Given the description of an element on the screen output the (x, y) to click on. 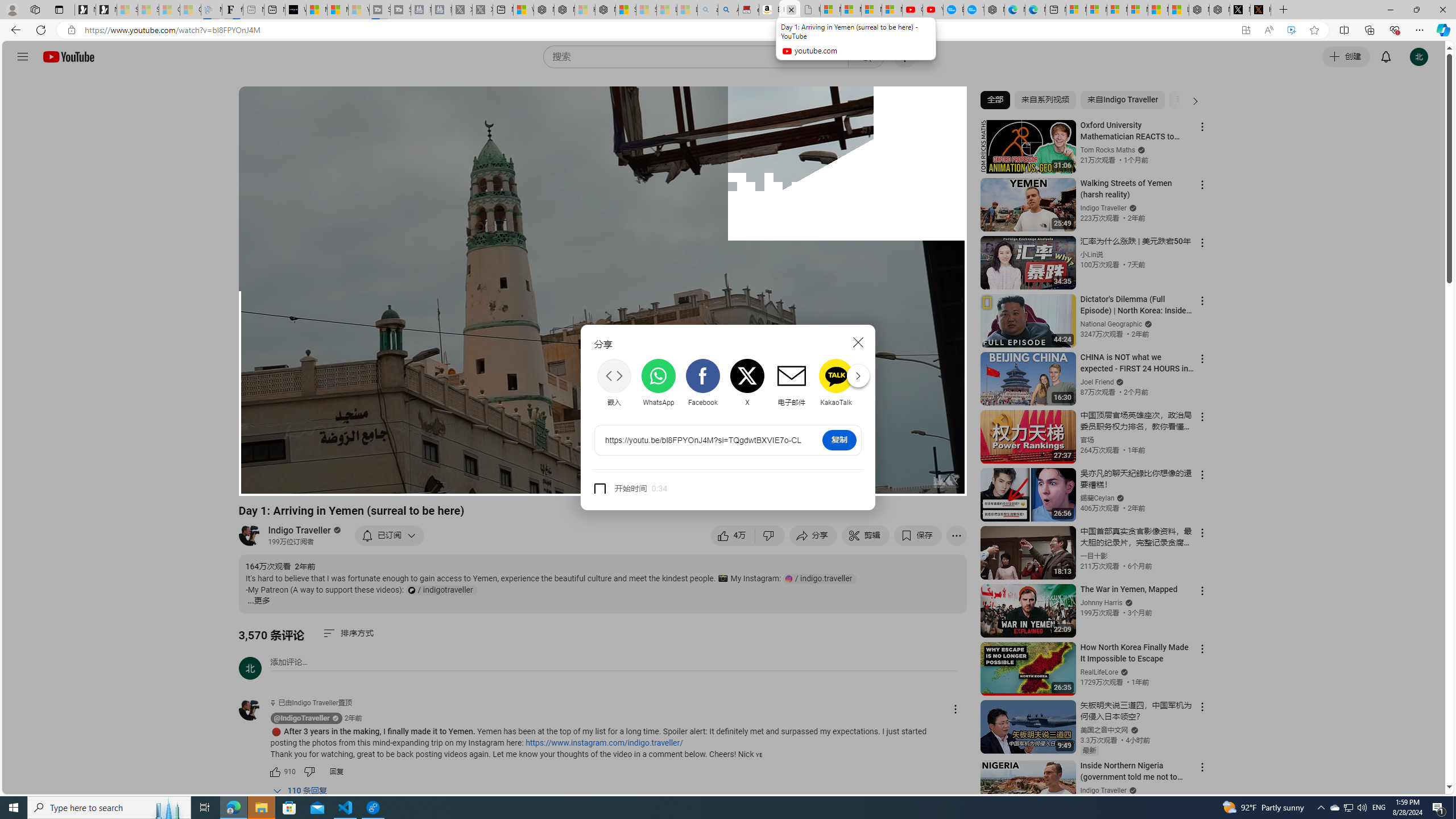
Amazon Echo Dot PNG - Search Images (728, 9)
@IndigoTraveller (254, 709)
App available. Install YouTube (1245, 29)
